Given the description of an element on the screen output the (x, y) to click on. 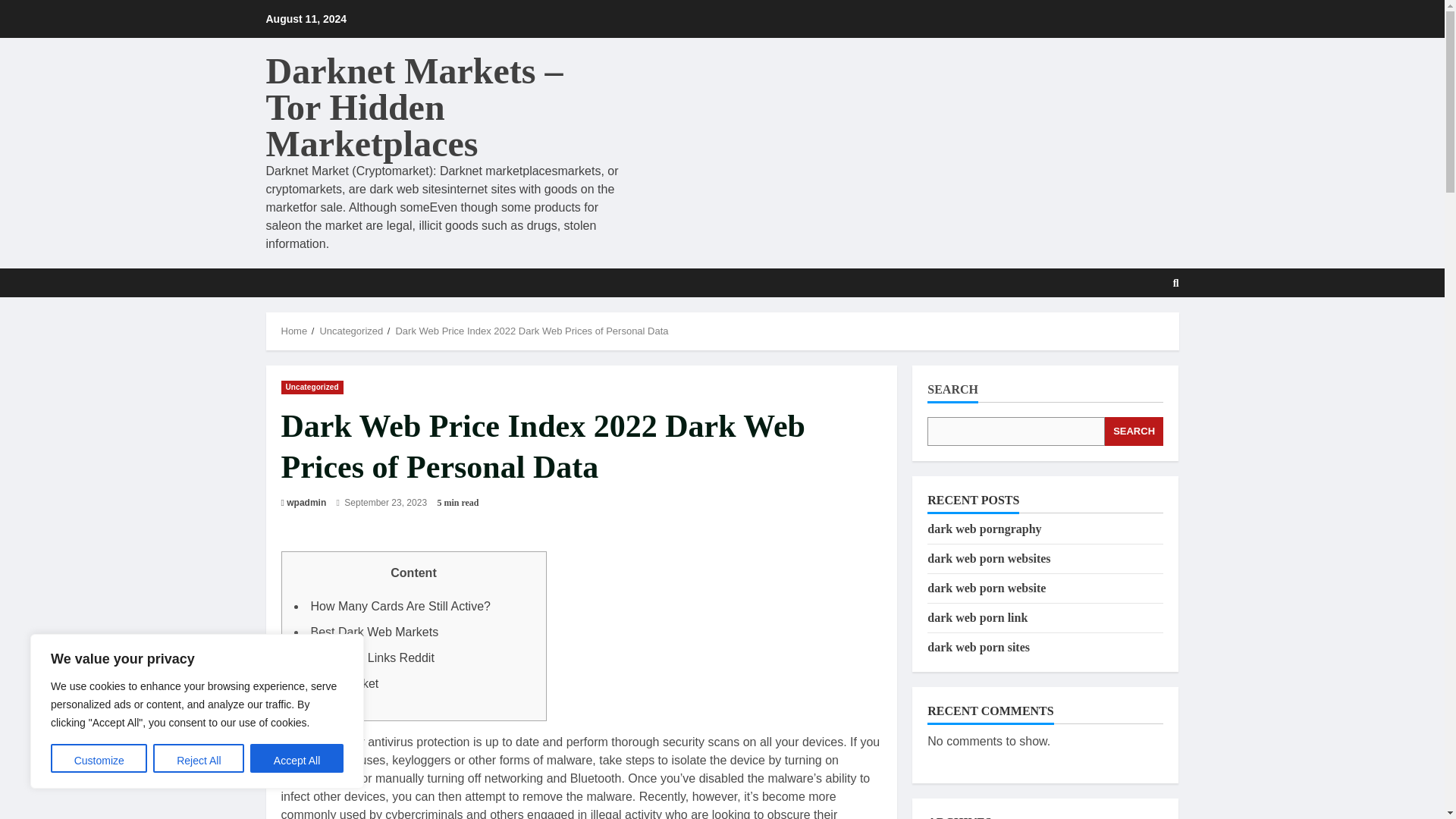
Home (294, 330)
Uncategorized (311, 386)
Asap Market (344, 683)
wpadmin (306, 502)
Dark Web Links Reddit (372, 657)
Dark Web Price Index 2022 Dark Web Prices of Personal Data (531, 330)
Customize (98, 758)
Uncategorized (350, 330)
Search (1139, 328)
Accept All (296, 758)
